Given the description of an element on the screen output the (x, y) to click on. 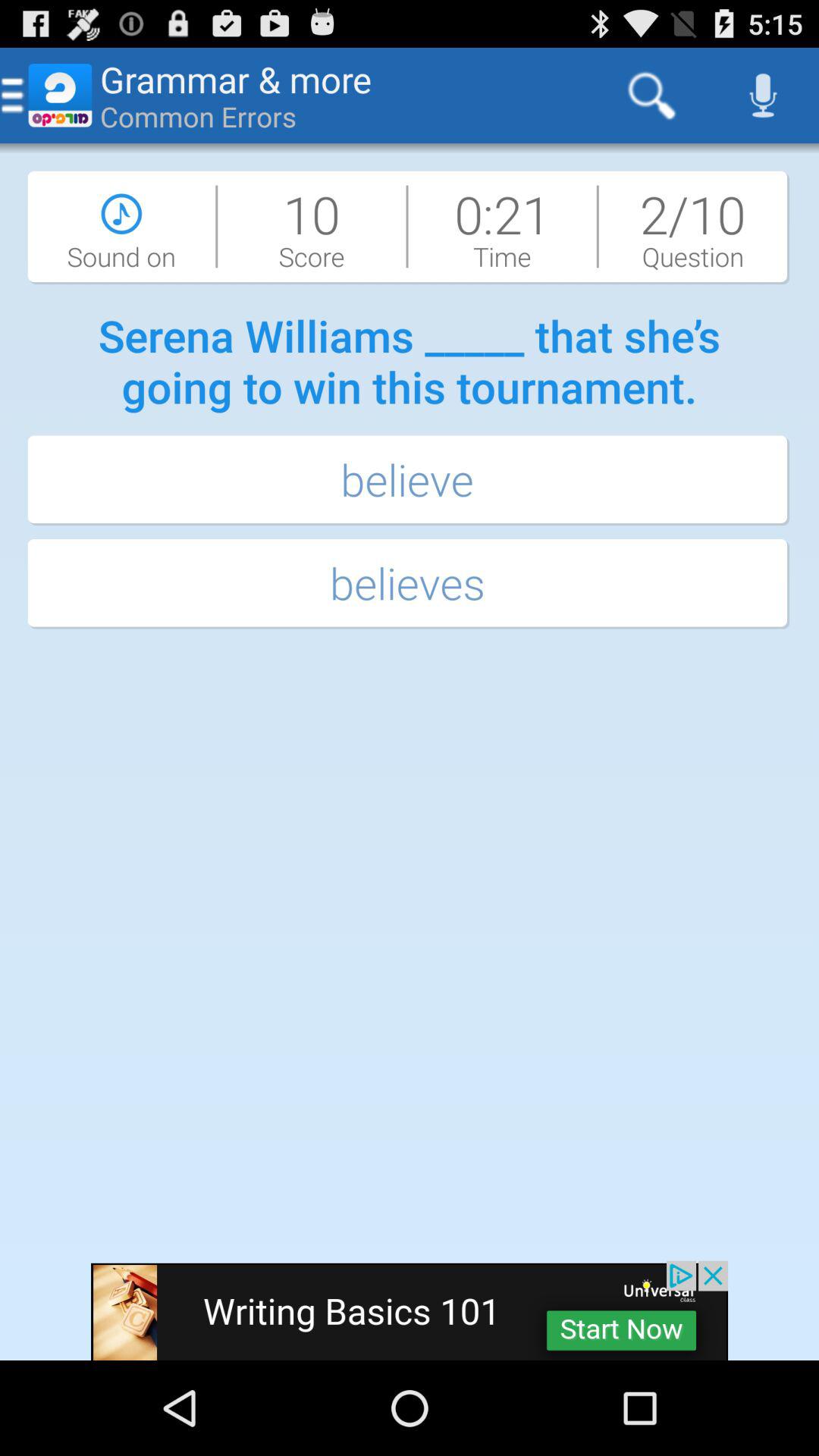
add select (409, 1310)
